Given the description of an element on the screen output the (x, y) to click on. 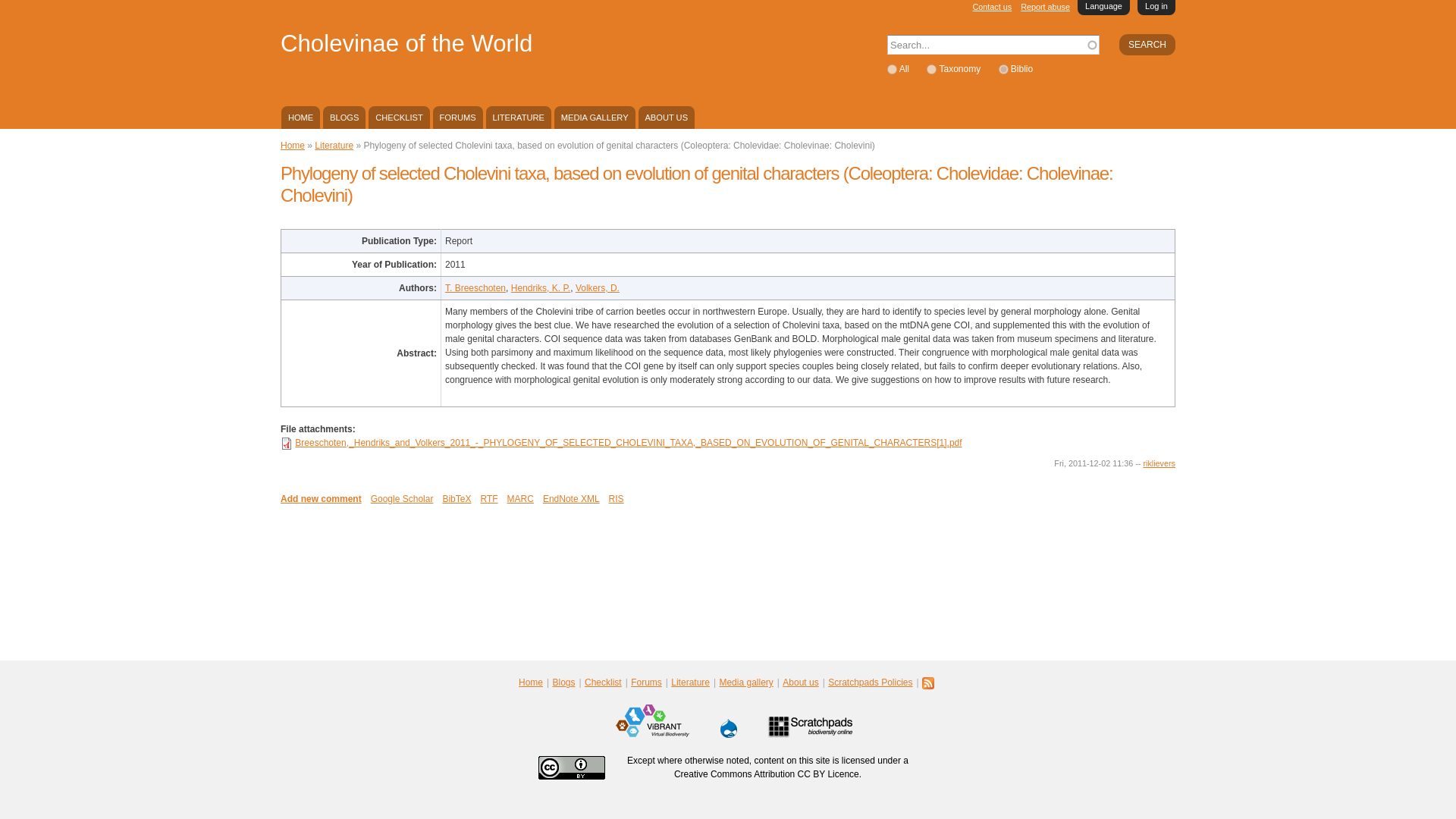
Search (1146, 44)
Contact us (991, 6)
FORUMS (457, 117)
Log in (1155, 7)
BLOGS (344, 117)
MEDIA GALLERY (594, 117)
Click to download the MARC formatted file (520, 498)
Share your thoughts and opinions related to this posting. (321, 498)
Click to download the RIS formatted file (616, 498)
ABOUT US (666, 117)
Volkers, D. (597, 287)
RTF (488, 498)
Click to download the RTF formatted file (488, 498)
Language (1103, 7)
About us (666, 117)
